Given the description of an element on the screen output the (x, y) to click on. 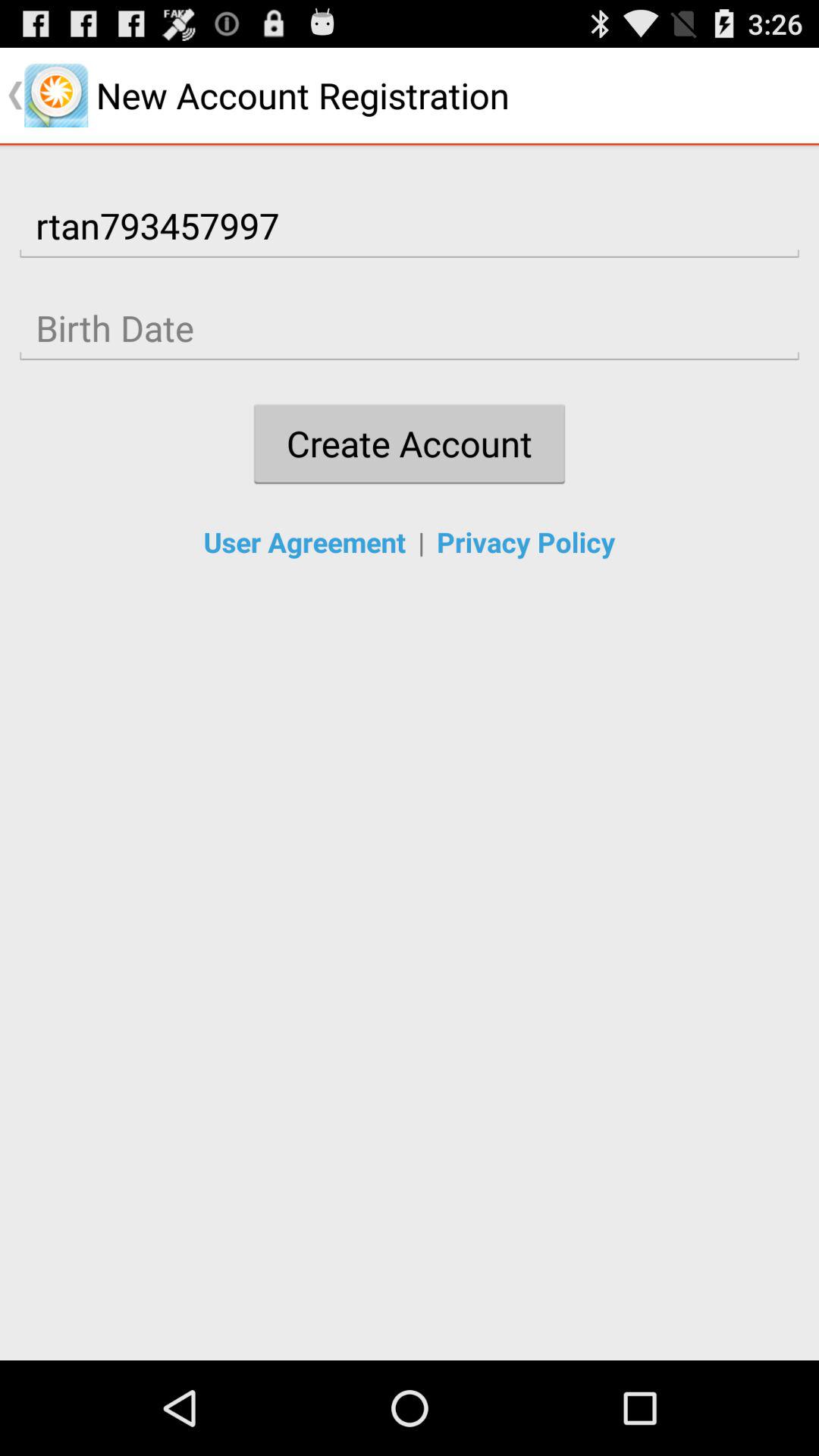
enter the birth date (409, 328)
